Given the description of an element on the screen output the (x, y) to click on. 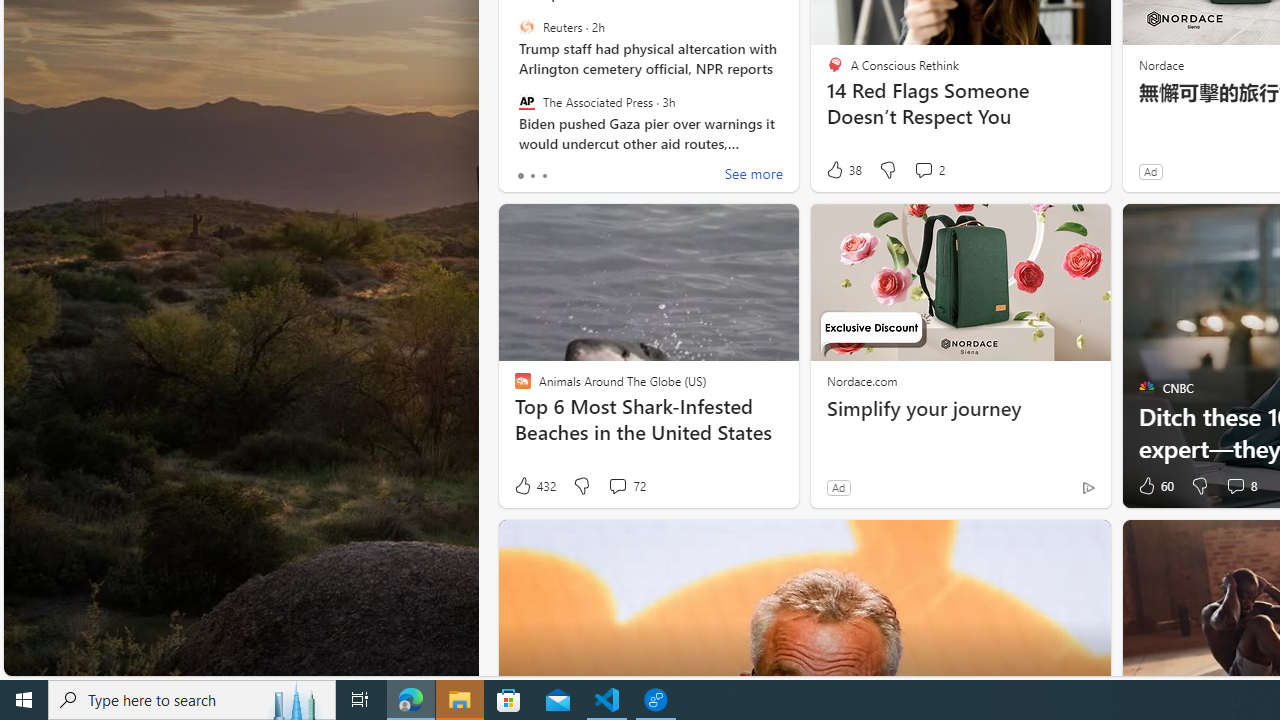
tab-0 (520, 175)
View comments 8 Comment (1240, 485)
tab-2 (543, 175)
tab-1 (532, 175)
Dislike (1199, 485)
Ad (838, 487)
The Associated Press (526, 101)
